Given the description of an element on the screen output the (x, y) to click on. 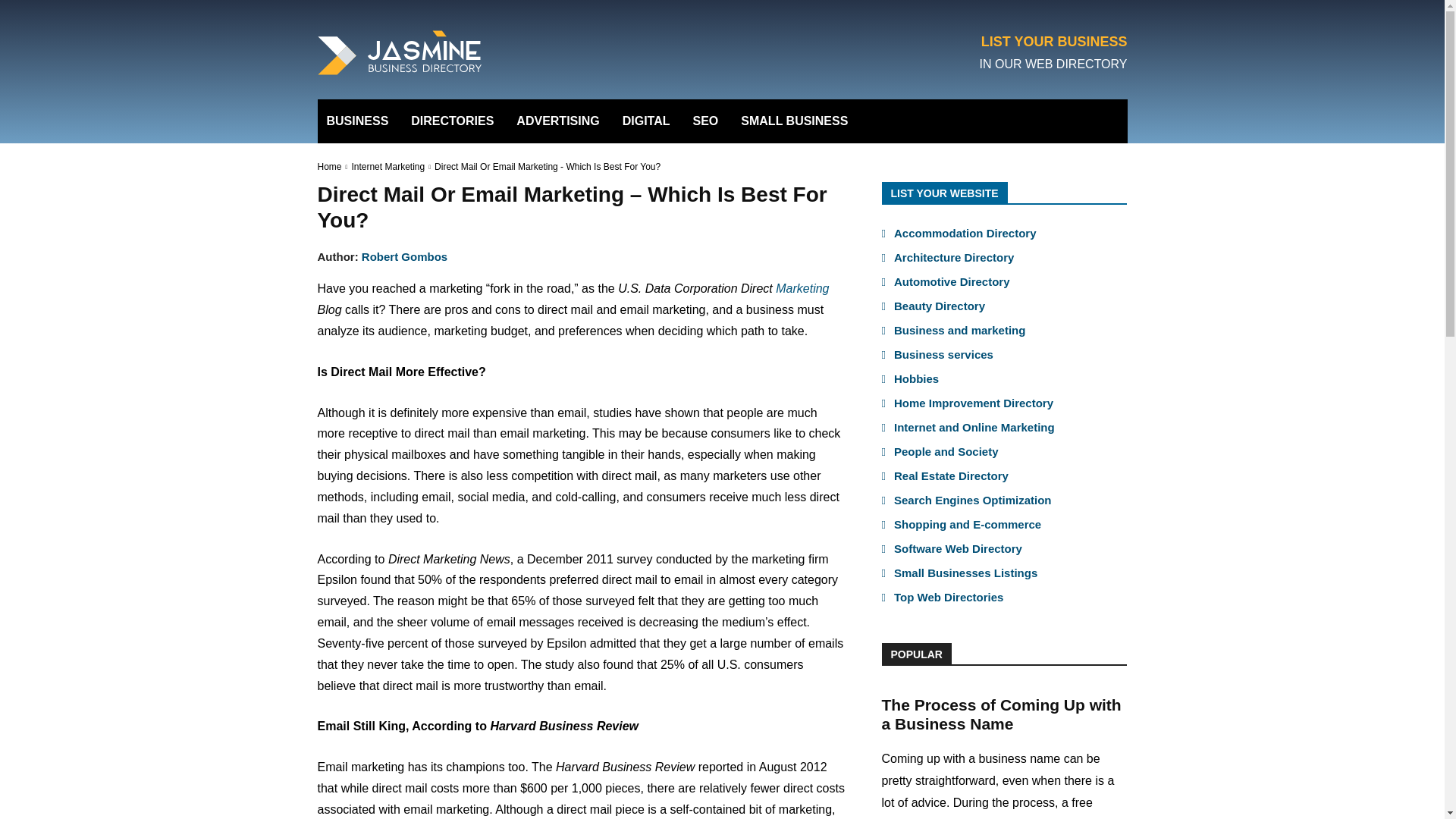
Accommodation Directory (964, 232)
The Process of Coming Up with a Business Name (1000, 714)
Real Estate Directory (951, 475)
DIRECTORIES (451, 120)
Business and marketing (959, 329)
View all posts in Internet Marketing (387, 166)
Business services (942, 354)
SEO (706, 120)
Shopping and E-commerce (967, 523)
SMALL BUSINESS (794, 120)
Search Engines Optimization (972, 499)
ADVERTISING (557, 120)
Robert Gombos (403, 256)
Internet Marketing (387, 166)
Home Improvement Directory (972, 402)
